Given the description of an element on the screen output the (x, y) to click on. 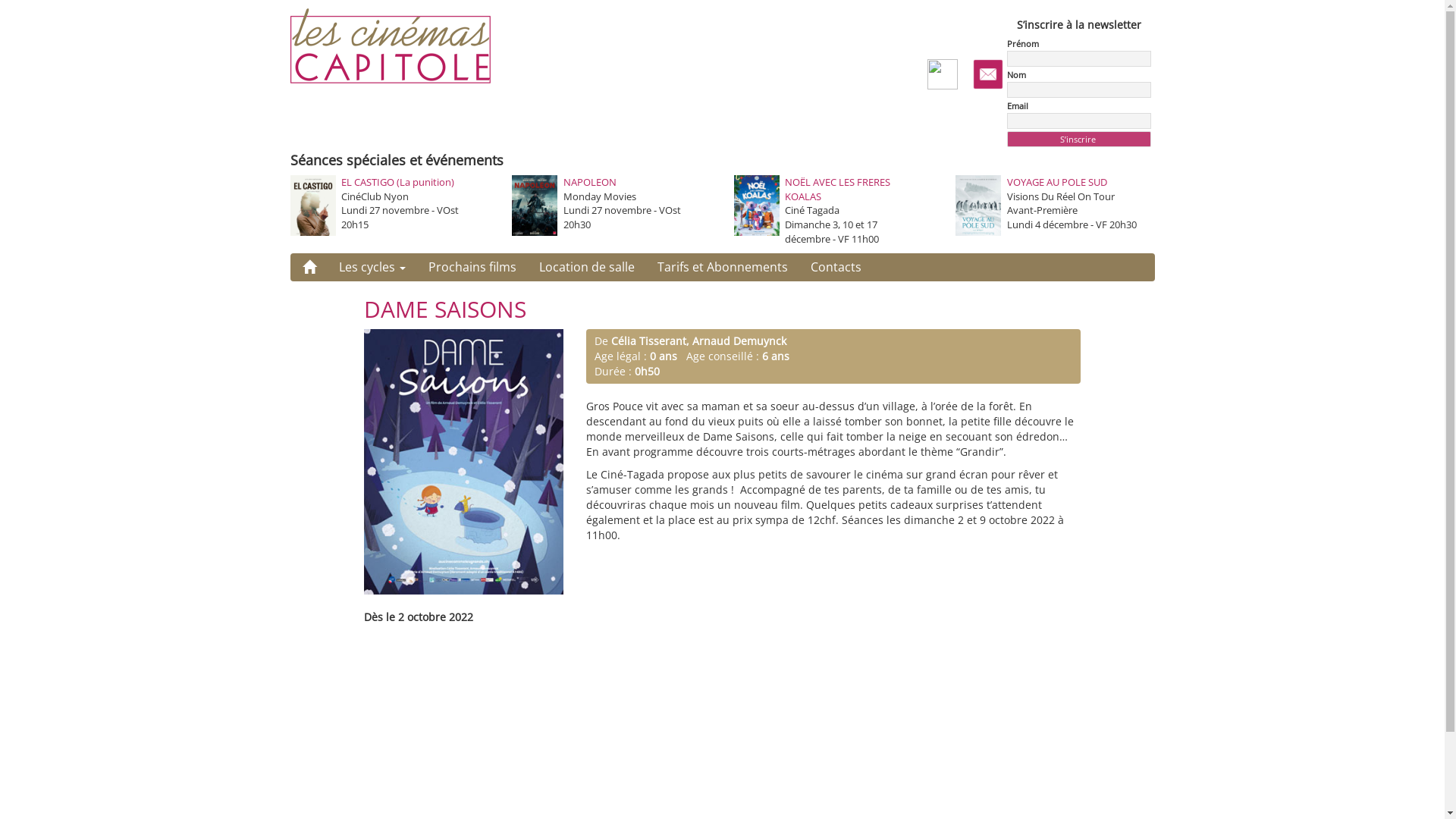
NAPOLEON Element type: text (588, 181)
Contacts Element type: text (835, 267)
Les cycles Element type: text (372, 267)
Tarifs et Abonnements Element type: text (722, 267)
DAME SAISONS Element type: text (445, 308)
EL CASTIGO (La punition) Element type: text (397, 181)
Prochains films Element type: text (472, 267)
Location de salle Element type: text (586, 267)
VOYAGE AU POLE SUD Element type: text (1057, 181)
